Given the description of an element on the screen output the (x, y) to click on. 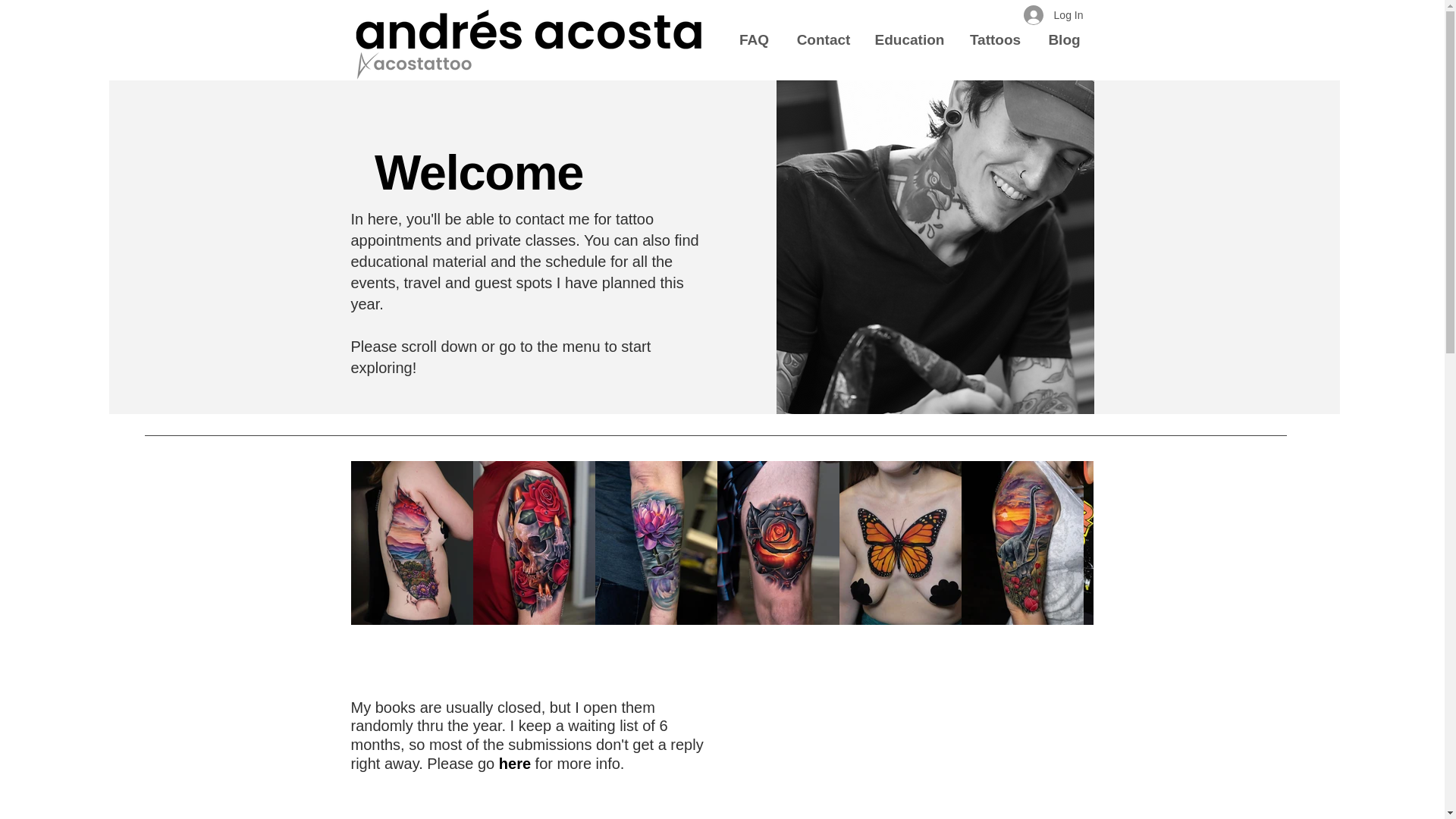
Tattoos (994, 39)
Contact (823, 39)
Education (909, 39)
Welcome (478, 172)
FAQ (754, 39)
Log In (1053, 14)
here (515, 763)
Blog (1063, 39)
